Given the description of an element on the screen output the (x, y) to click on. 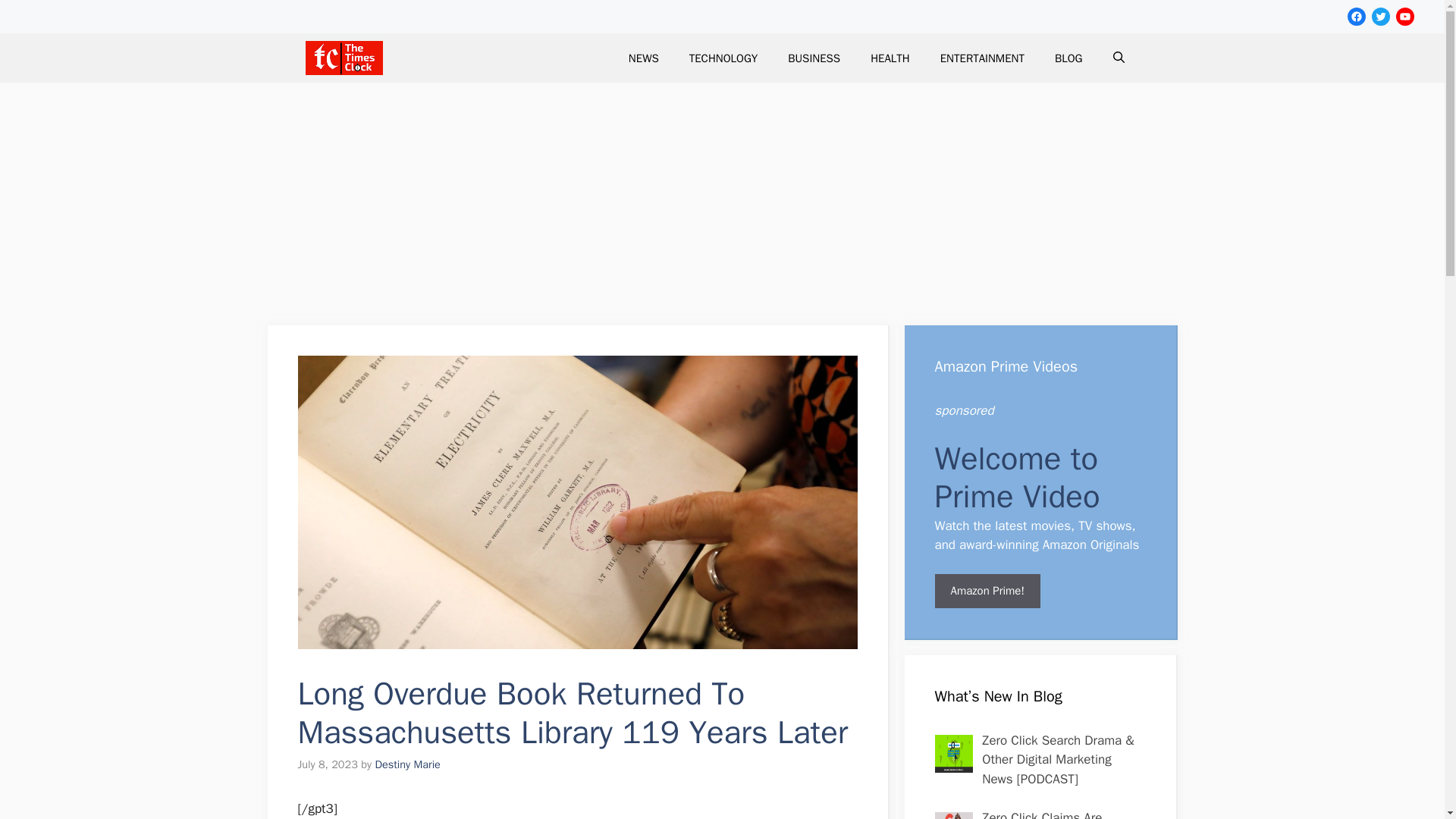
BUSINESS (814, 57)
Zero Click Claims Are Misleading (1041, 814)
TECHNOLOGY (723, 57)
YouTube (1404, 16)
Destiny Marie (407, 764)
HEALTH (890, 57)
ENTERTAINMENT (981, 57)
Twitter (1380, 16)
Latest USA News, Culture, Style, Travel, Finances, Celebrity (343, 57)
BLOG (1068, 57)
